Given the description of an element on the screen output the (x, y) to click on. 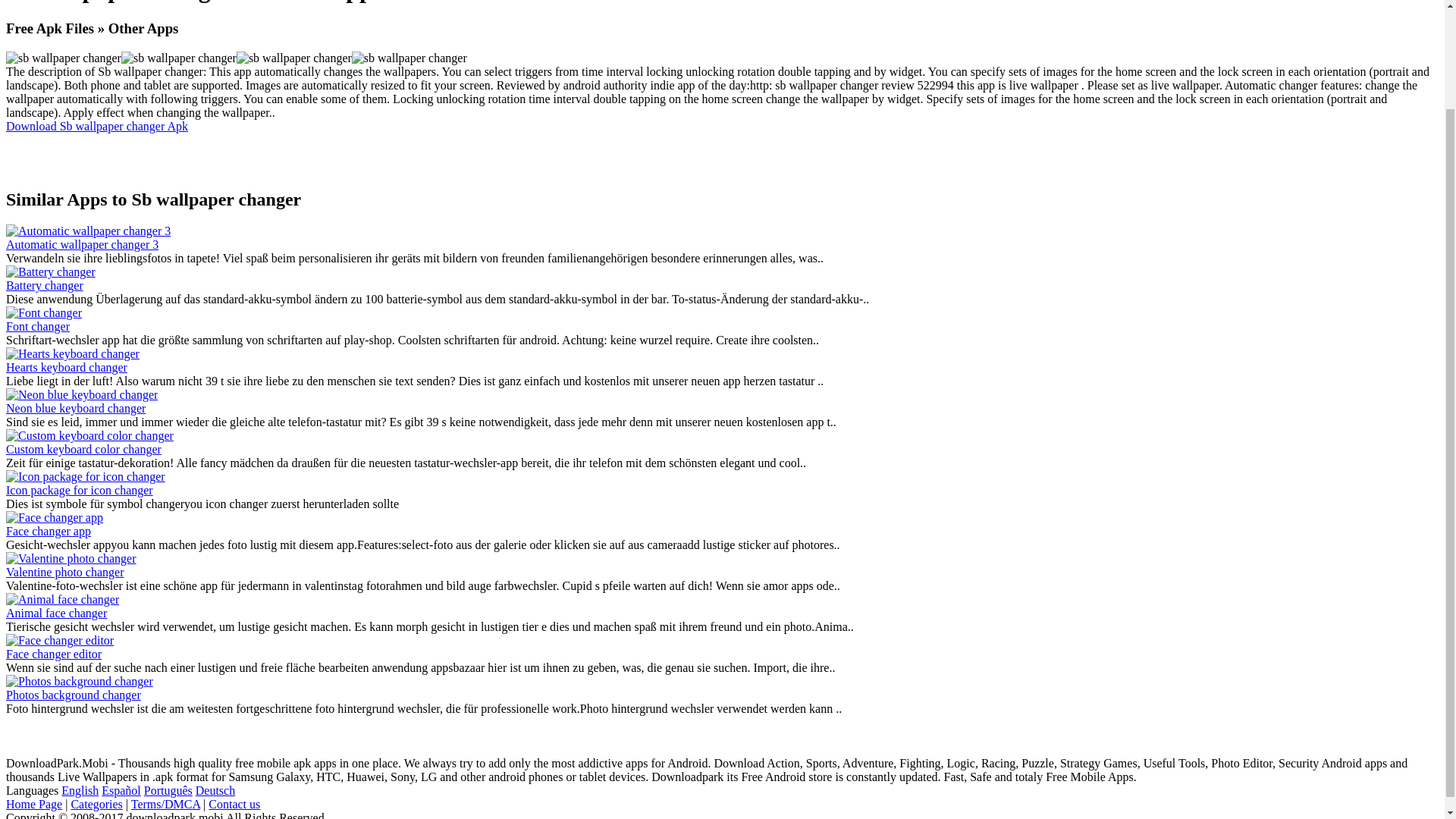
English (80, 789)
Home Page (33, 803)
Categories (95, 803)
Contact us (234, 803)
Download Sb wallpaper changer Apk (96, 125)
Deutsch (214, 789)
